Given the description of an element on the screen output the (x, y) to click on. 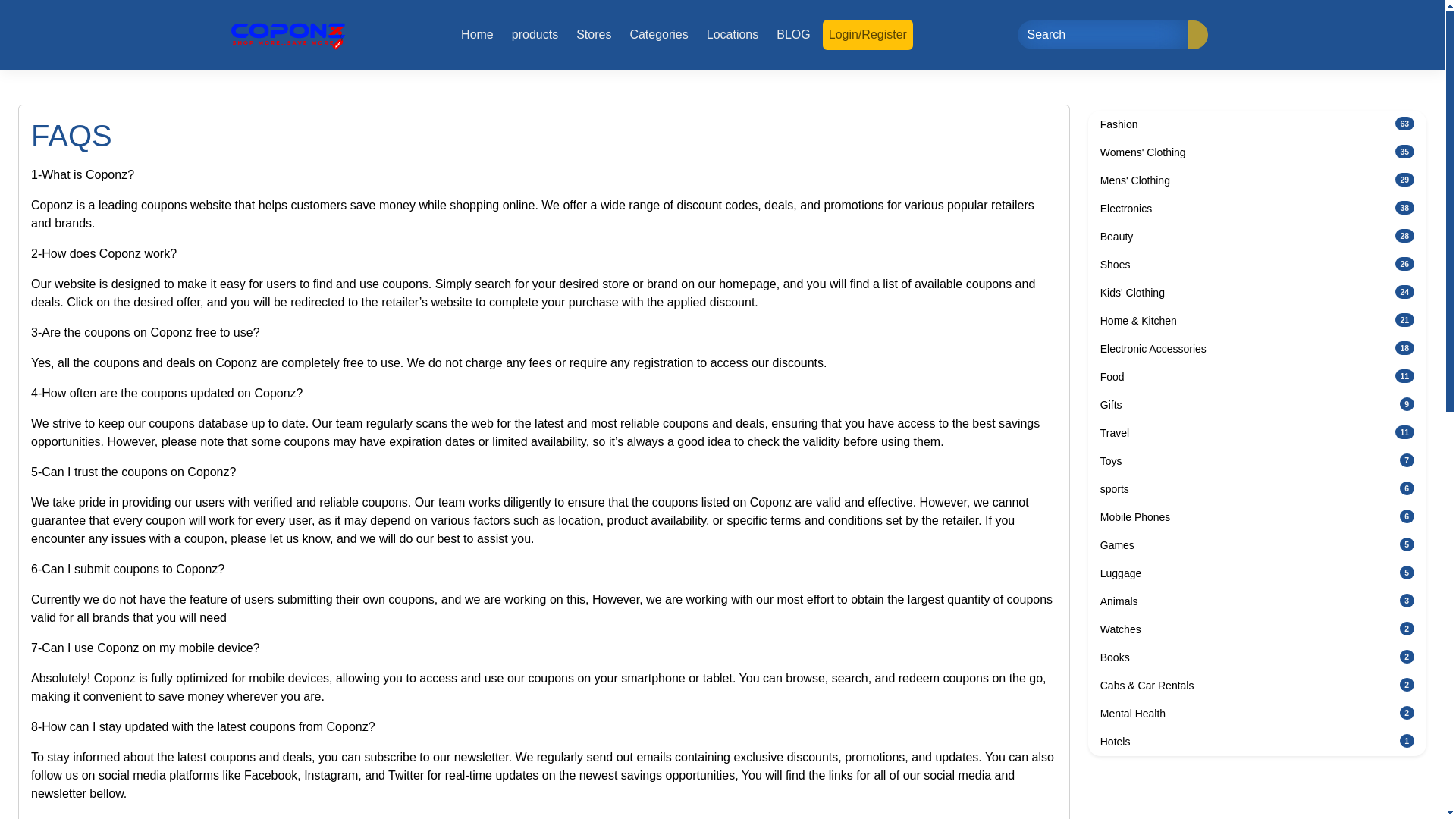
Stores (1256, 208)
Categories (1256, 405)
Home (1256, 124)
Locations (1256, 573)
